Given the description of an element on the screen output the (x, y) to click on. 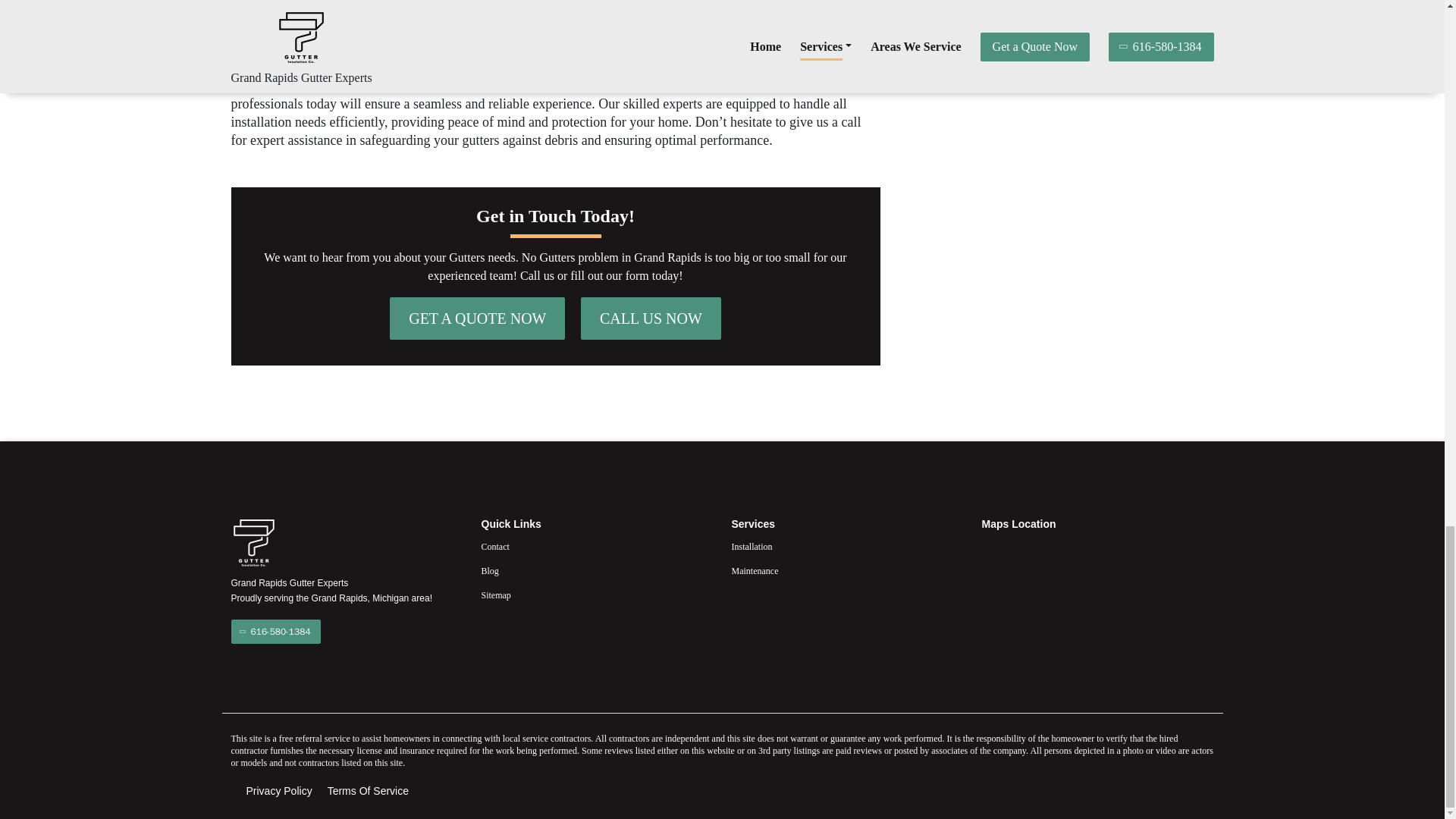
Installation (846, 546)
Sitemap (596, 595)
Maintenance (846, 570)
Blog (596, 570)
616-580-1384 (275, 631)
GET A QUOTE NOW (477, 318)
Privacy Policy (278, 791)
Terms Of Service (368, 791)
Contact (596, 546)
CALL US NOW (650, 318)
